Given the description of an element on the screen output the (x, y) to click on. 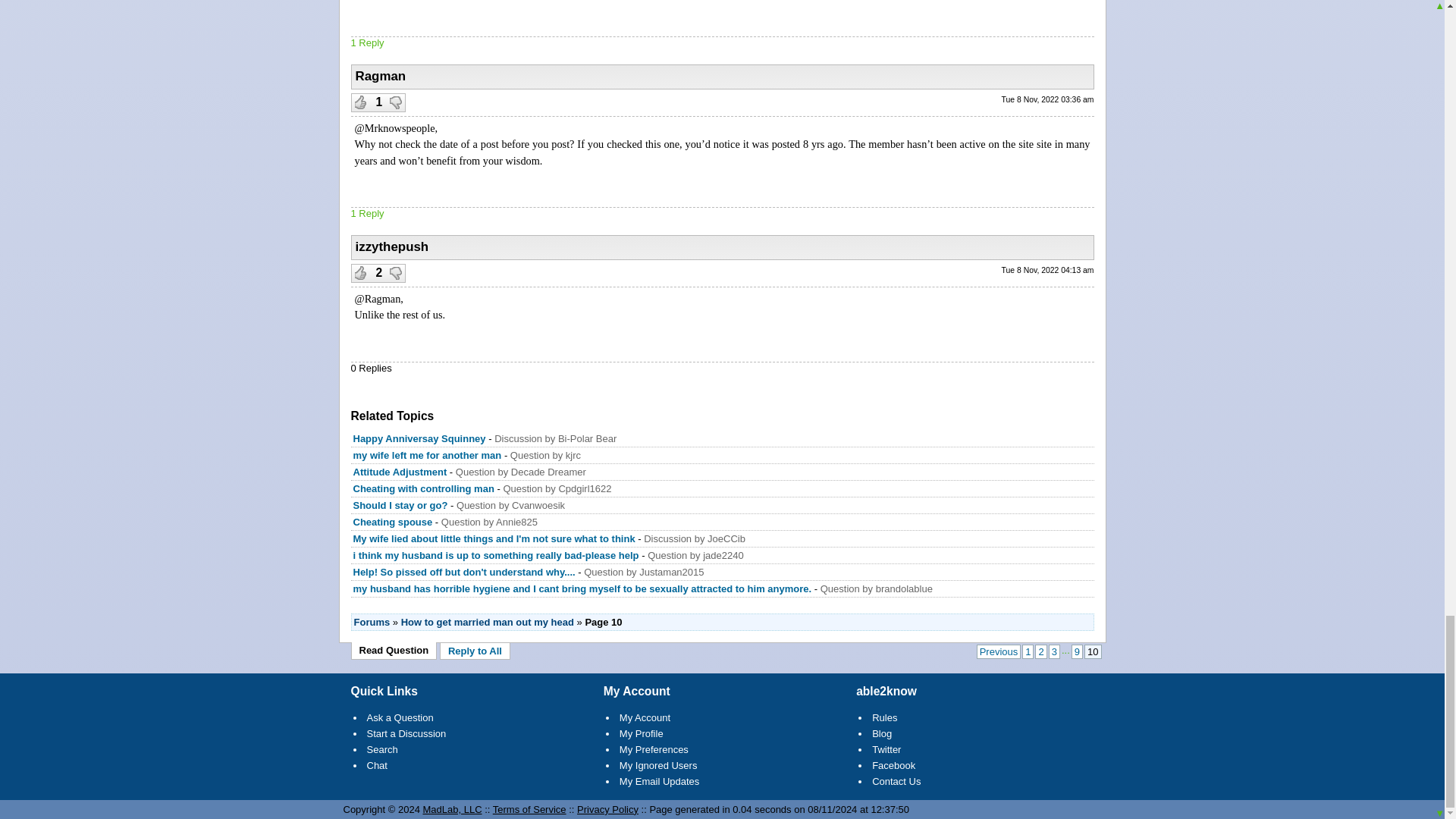
i think my husband is up to something really bad-please help (497, 555)
Attitude Adjustment (399, 471)
Should I stay or go? (400, 505)
Happy Anniversay Squinney (419, 438)
Cheating with controlling man (424, 488)
Help! So pissed off but don't understand why.... (464, 572)
my wife left me for another man (427, 455)
Cheating spouse (394, 521)
